Given the description of an element on the screen output the (x, y) to click on. 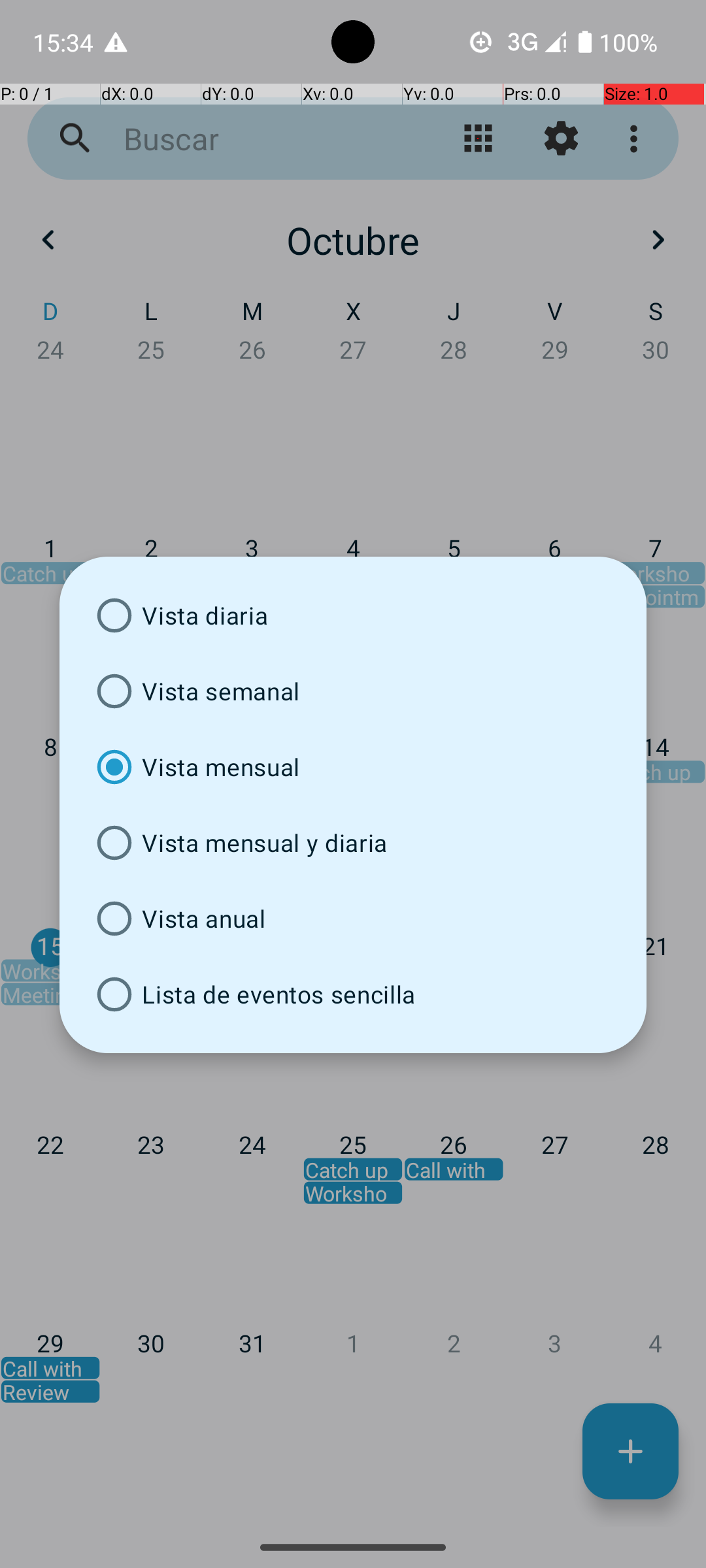
Vista diaria Element type: android.widget.RadioButton (352, 615)
Vista semanal Element type: android.widget.RadioButton (352, 691)
Vista mensual Element type: android.widget.RadioButton (352, 766)
Vista mensual y diaria Element type: android.widget.RadioButton (352, 842)
Vista anual Element type: android.widget.RadioButton (352, 918)
Lista de eventos sencilla Element type: android.widget.RadioButton (352, 994)
